Given the description of an element on the screen output the (x, y) to click on. 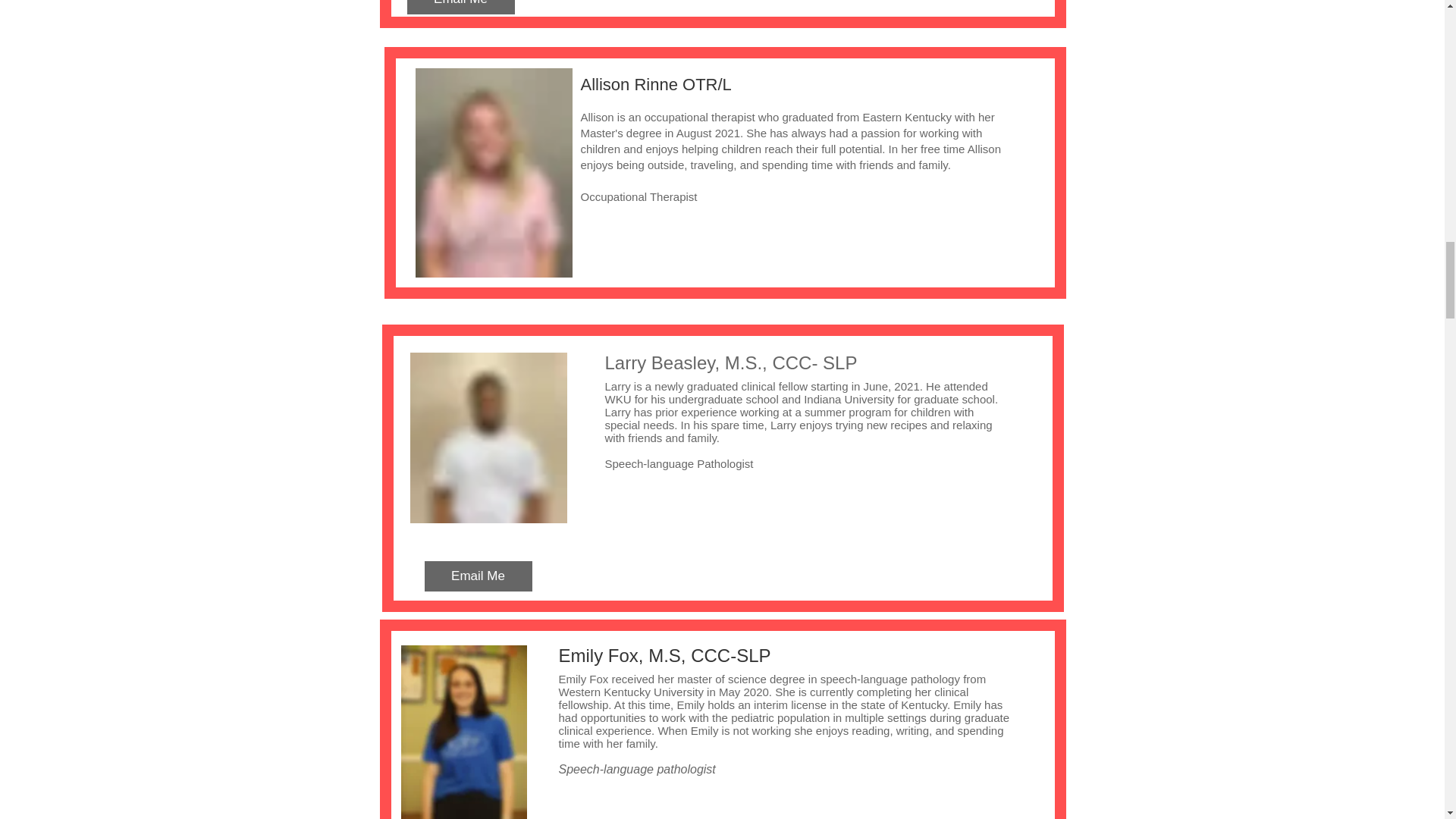
Email Me (459, 7)
